Given the description of an element on the screen output the (x, y) to click on. 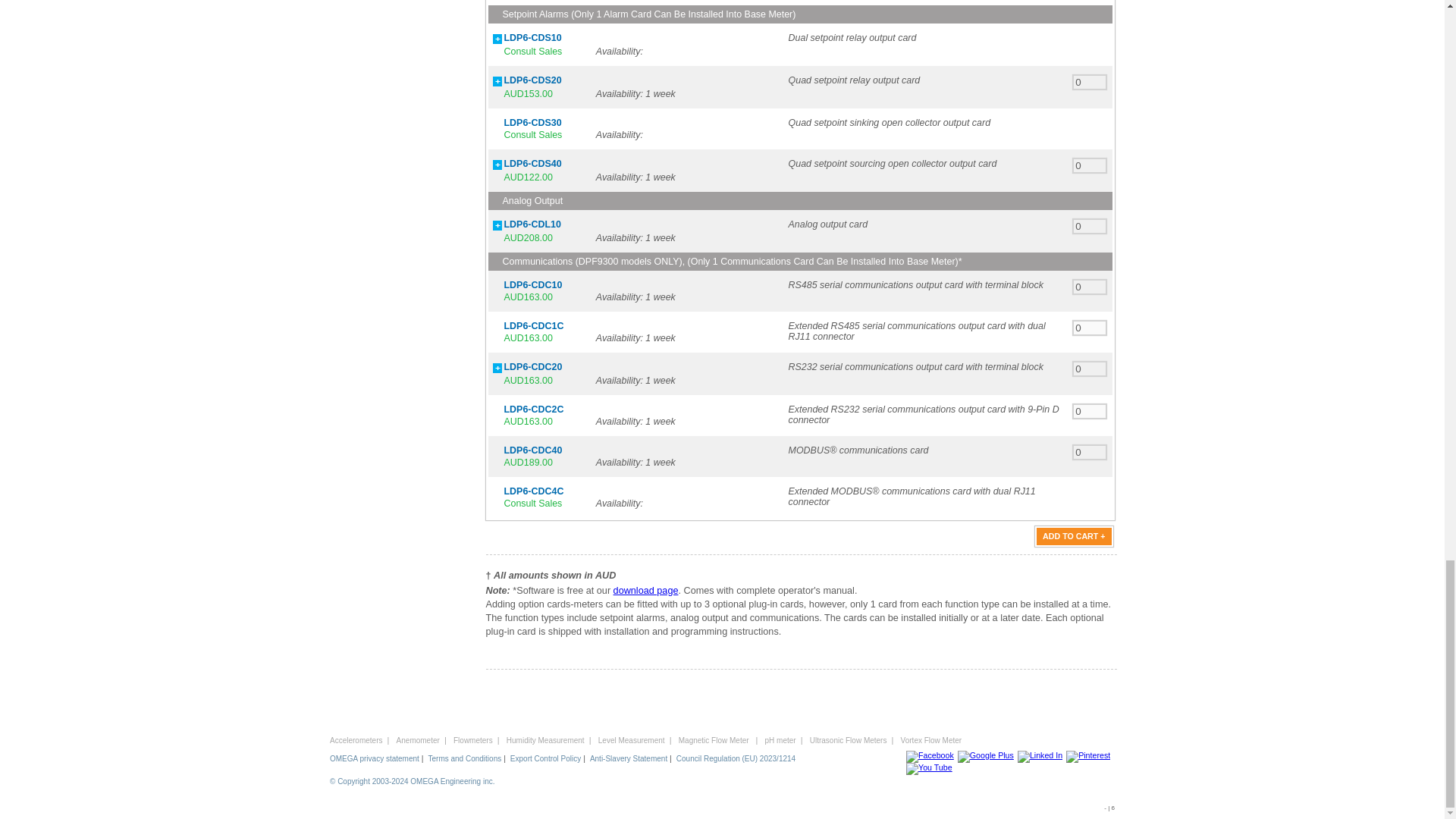
0 (1089, 411)
0 (1089, 368)
0 (1089, 287)
0 (1089, 165)
0 (1089, 226)
0 (1089, 82)
0 (1089, 327)
0 (1089, 452)
